Given the description of an element on the screen output the (x, y) to click on. 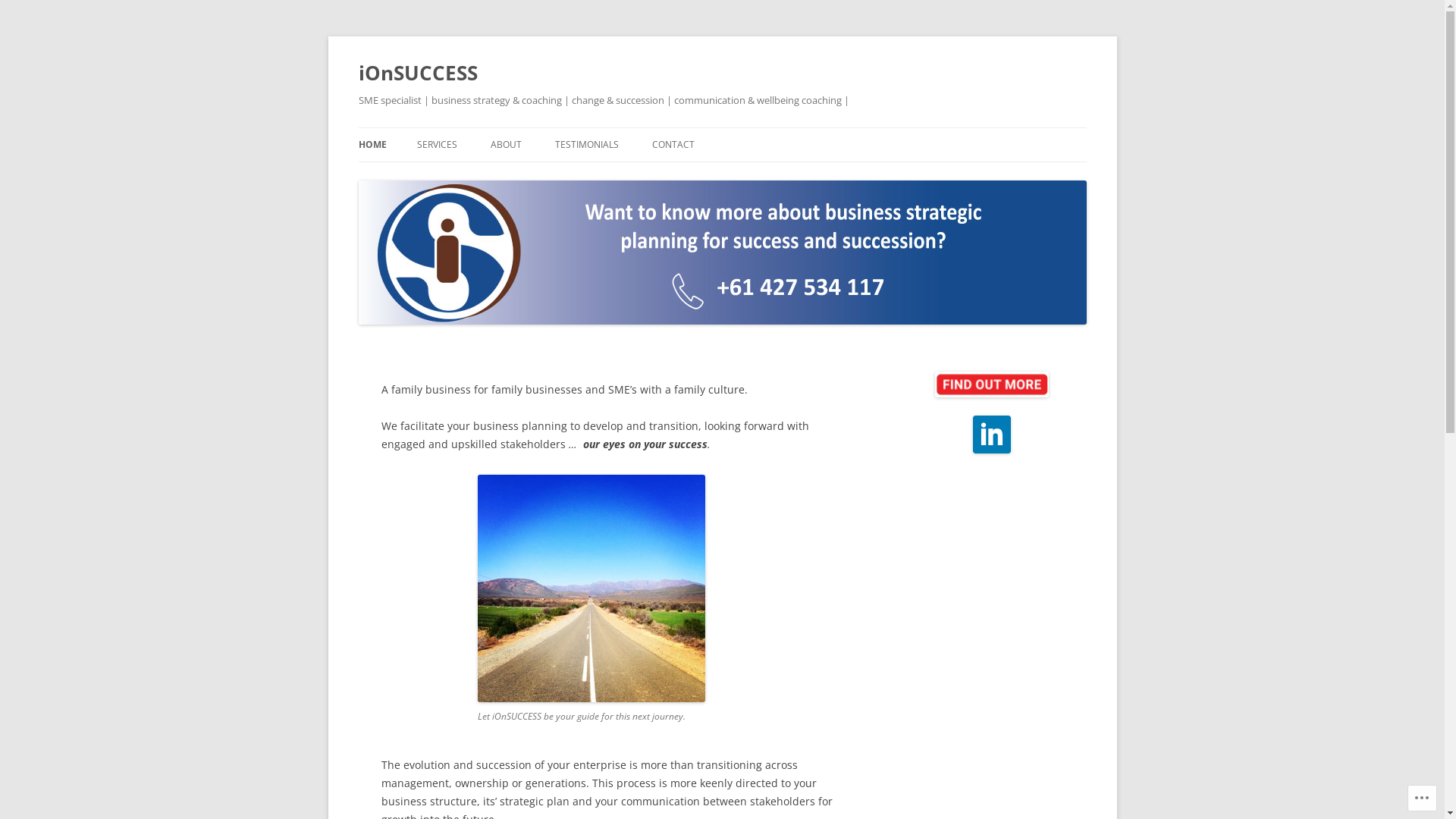
iOnSUCCESS Element type: text (416, 72)
Skip to content Element type: text (721, 127)
THE COMPANY Element type: text (565, 176)
COMMUNICATION Element type: text (492, 176)
ABOUT Element type: text (504, 144)
HOME Element type: text (371, 144)
CONTACT Element type: text (673, 144)
TESTIMONIALS Element type: text (586, 144)
SERVICES Element type: text (437, 144)
